Given the description of an element on the screen output the (x, y) to click on. 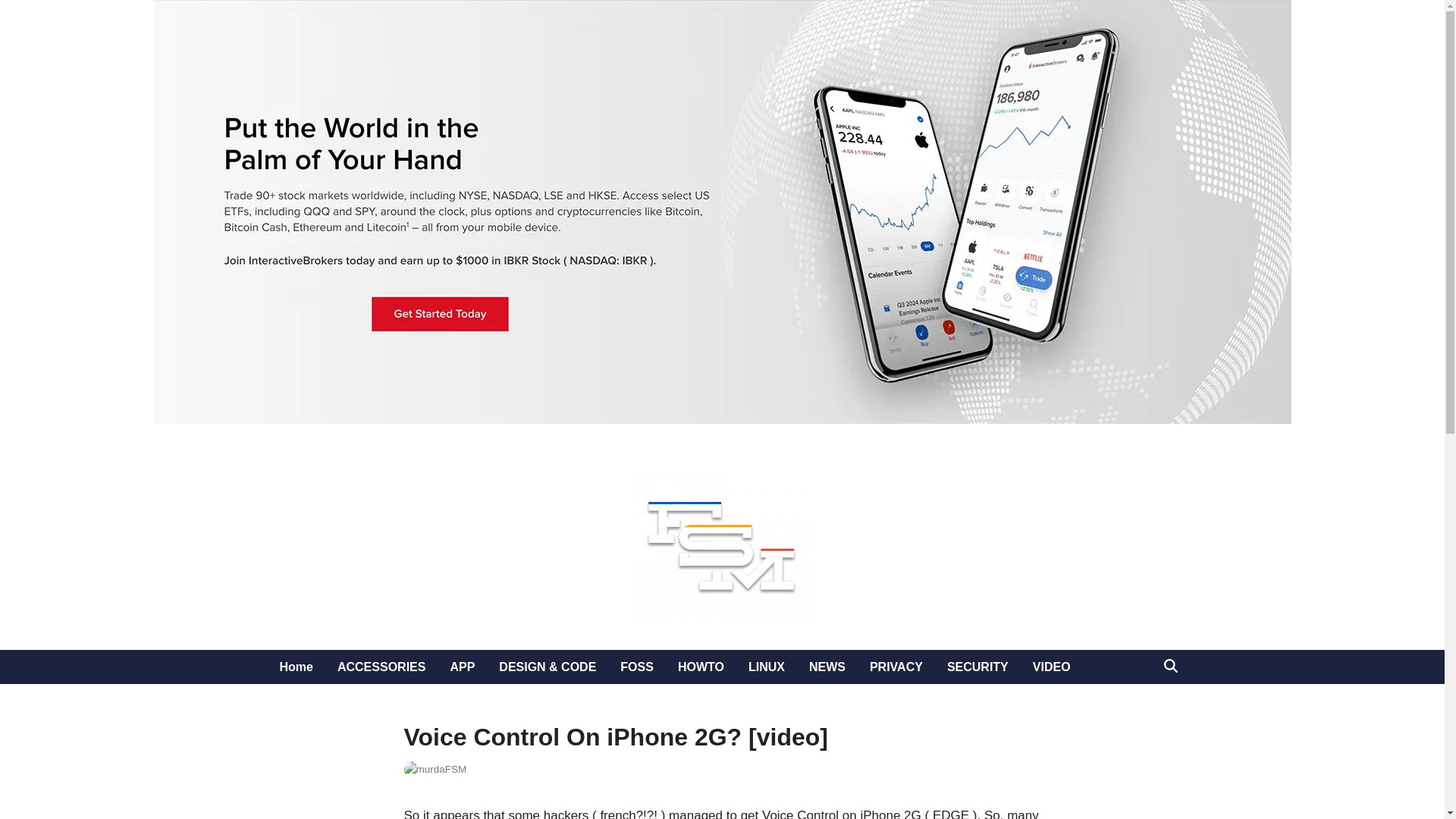
HOWTO (700, 666)
Home (295, 666)
NEWS (826, 666)
ACCESSORIES (381, 666)
LINUX (766, 666)
VIDEO (1051, 666)
FOSS (636, 666)
SECURITY (977, 666)
PRIVACY (895, 666)
APP (462, 666)
